Given the description of an element on the screen output the (x, y) to click on. 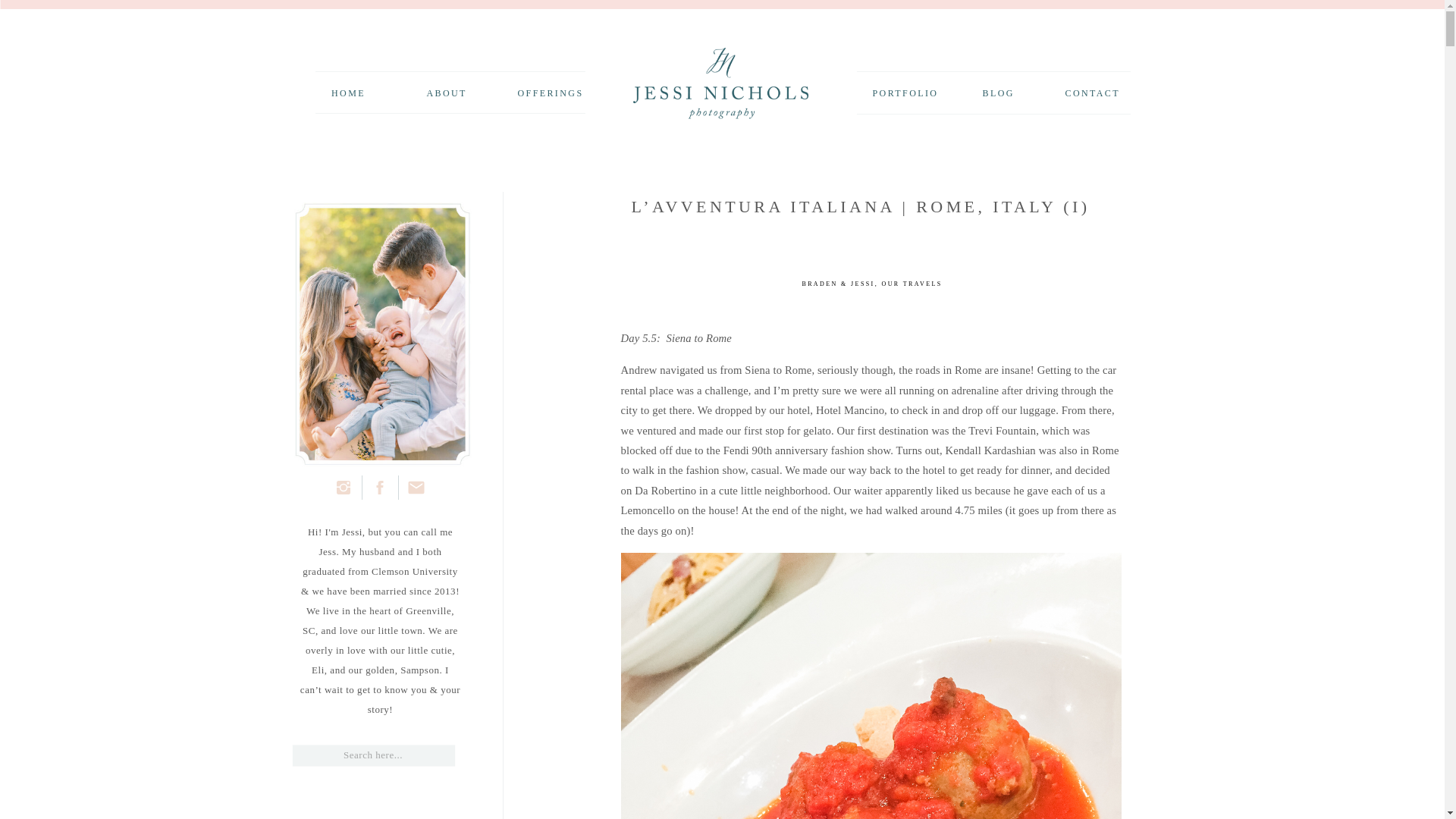
CONTACT (1089, 91)
OFFERINGS (550, 91)
PORTFOLIO (903, 91)
OUR TRAVELS (911, 283)
ABOUT (443, 91)
HOME (347, 91)
BLOG (996, 91)
